Given the description of an element on the screen output the (x, y) to click on. 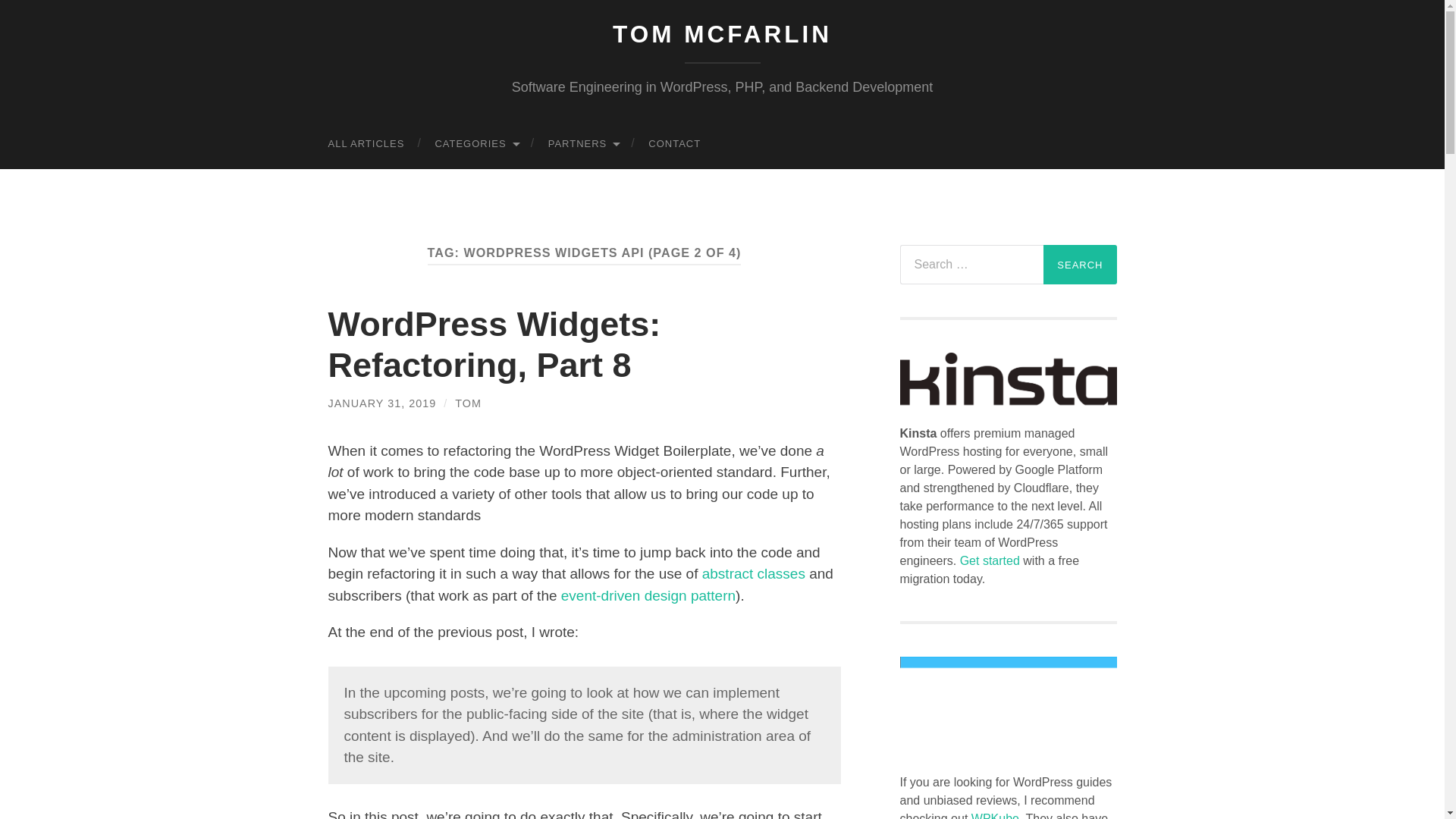
abstract classes (753, 573)
TOM (467, 403)
TOM MCFARLIN (721, 33)
CATEGORIES (475, 142)
WordPress Widgets: Refactoring, Part 8 (494, 344)
JANUARY 31, 2019 (381, 403)
Search (1079, 264)
Posts by Tom (467, 403)
PARTNERS (582, 142)
event-driven design pattern (647, 595)
Search (1079, 264)
ALL ARTICLES (366, 142)
CONTACT (674, 142)
